Given the description of an element on the screen output the (x, y) to click on. 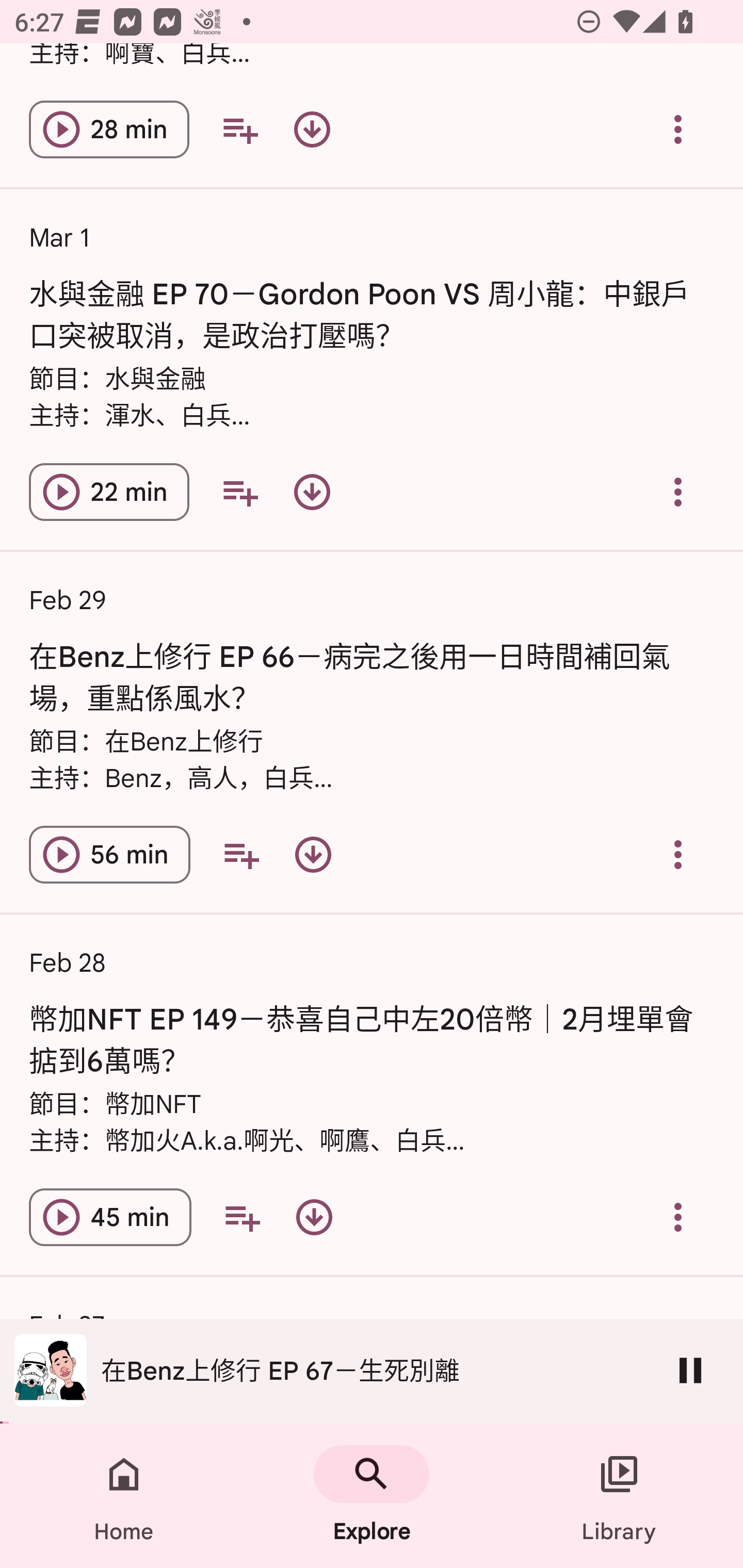
Play episode 寶藥黨 EP179 －異國進口生意｜日本茶！？ 28 min (108, 129)
Add to your queue (239, 129)
Download episode (312, 129)
Overflow menu (677, 129)
Add to your queue (239, 491)
Download episode (312, 491)
Overflow menu (677, 491)
Add to your queue (241, 854)
Download episode (313, 854)
Overflow menu (677, 854)
Add to your queue (241, 1217)
Download episode (313, 1217)
Overflow menu (677, 1217)
白兵電台 在Benz上修行 EP 67－生死別離 Pause 30.0 (371, 1370)
Pause (690, 1370)
Home (123, 1495)
Library (619, 1495)
